Given the description of an element on the screen output the (x, y) to click on. 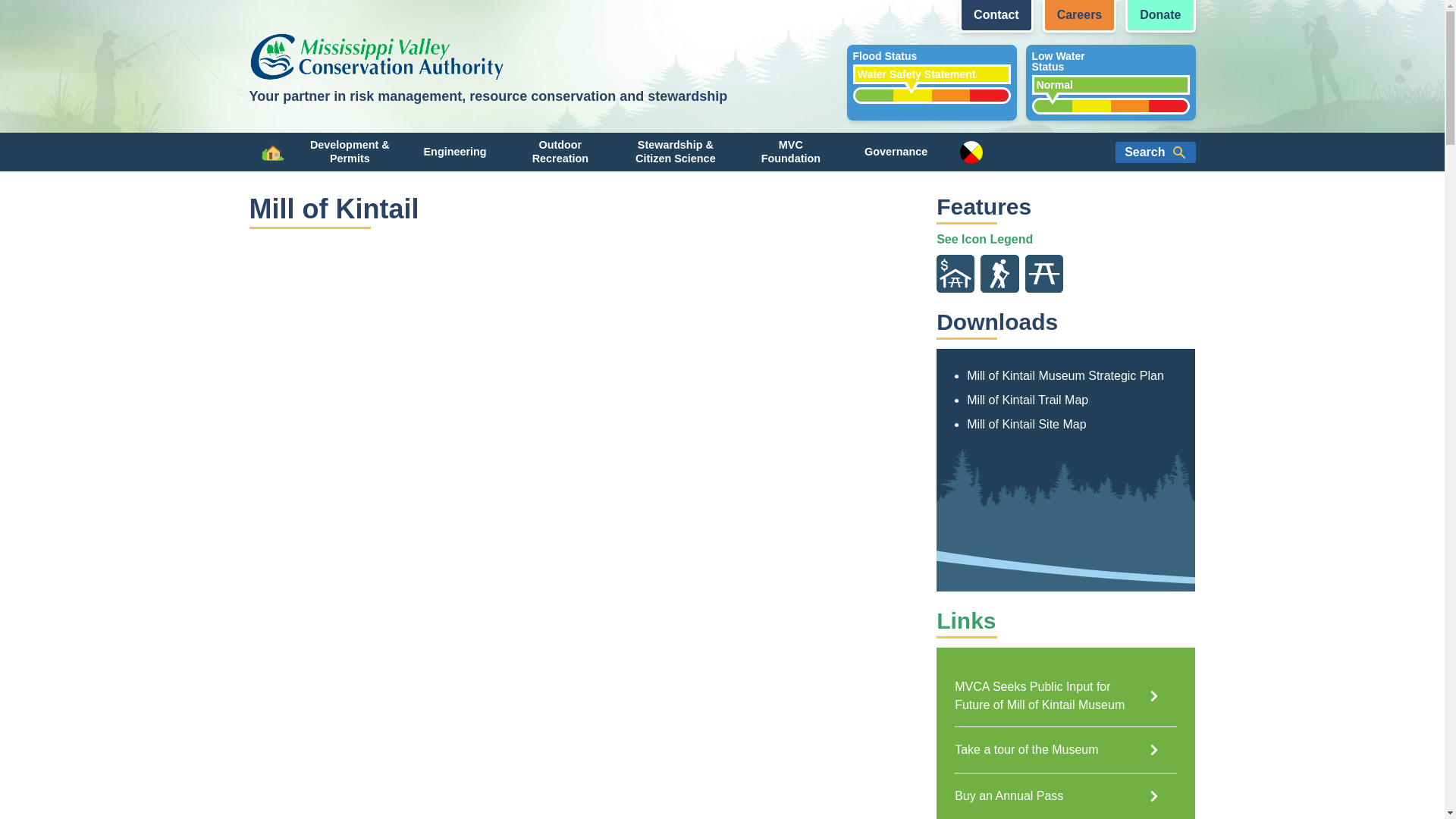
Careers (1079, 16)
Facilities Rental (955, 273)
Donate (1160, 16)
Contact (930, 82)
Engineering (1110, 82)
